Given the description of an element on the screen output the (x, y) to click on. 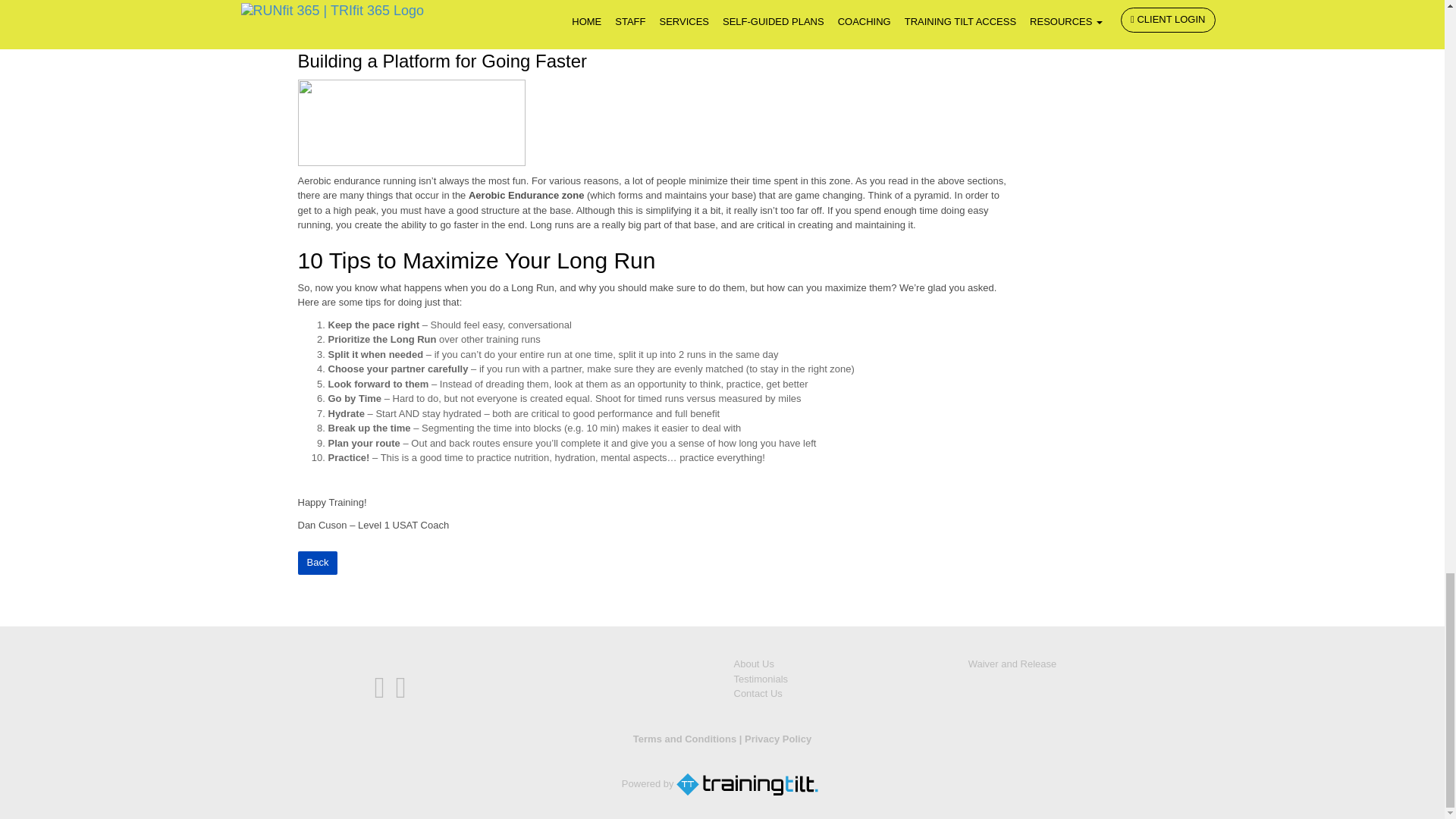
Privacy Policy (777, 738)
Testimonials (761, 678)
Terms and Conditions (684, 738)
Powered by (721, 783)
Waiver and Release (1012, 663)
Contact Us (758, 693)
Back (317, 562)
About Us (753, 663)
